Given the description of an element on the screen output the (x, y) to click on. 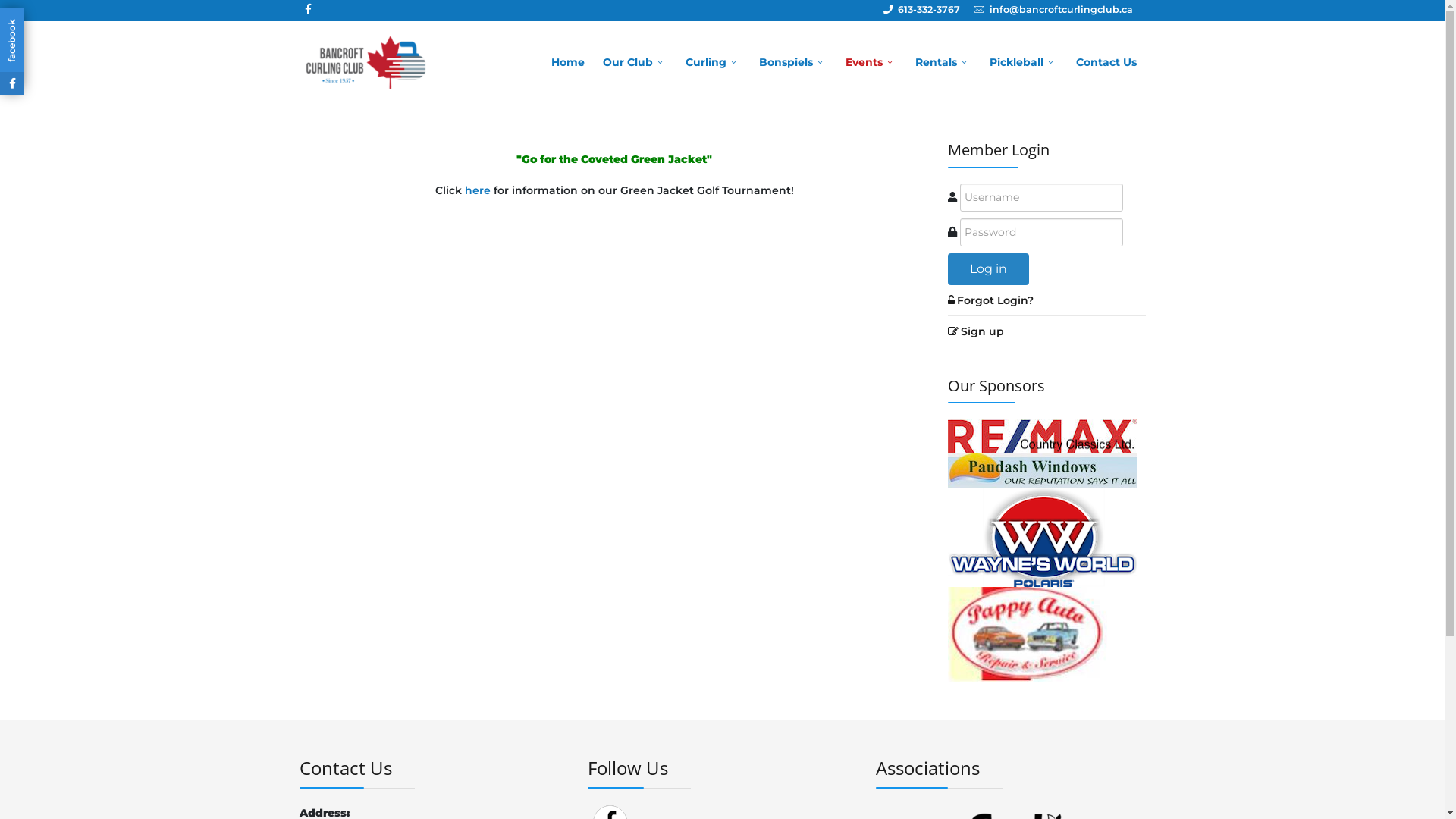
Forgot Login? Element type: hover (950, 299)
Our Club Element type: text (634, 62)
Username Element type: hover (952, 196)
Events Element type: text (870, 62)
Remax Country Classics Element type: hover (1042, 435)
613-332-3767 Element type: text (928, 9)
Password Element type: hover (952, 230)
Pickleball Element type: text (1022, 62)
Sign up Element type: hover (952, 331)
Sign up Element type: text (1046, 330)
here Element type: text (476, 190)
Home Element type: text (567, 62)
Pappy's Auto Repair and Service Element type: hover (1027, 633)
Log in Element type: text (988, 269)
Curling Element type: text (712, 62)
Paudash Windows Element type: hover (1042, 469)
info@bancroftcurlingclub.ca Element type: text (1060, 9)
Rentals Element type: text (942, 62)
Bonspiels Element type: text (792, 62)
Forgot Login? Element type: text (1046, 300)
Contact Us Element type: text (1105, 62)
